Given the description of an element on the screen output the (x, y) to click on. 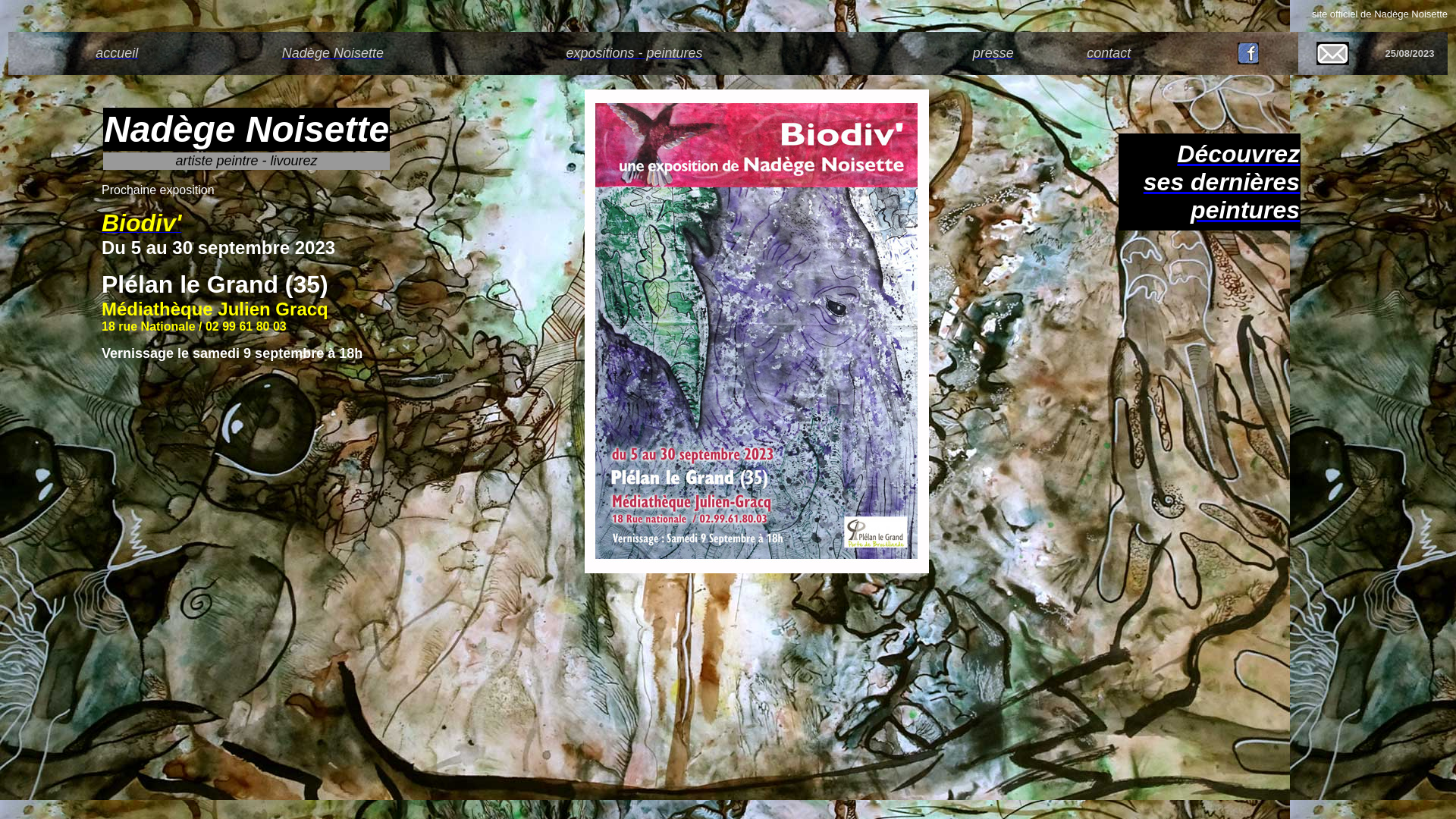
accueil Element type: text (116, 52)
expositions - peintures Element type: text (633, 52)
Biodiv' Element type: text (141, 226)
presse Element type: text (992, 52)
contact Element type: text (1108, 52)
